Given the description of an element on the screen output the (x, y) to click on. 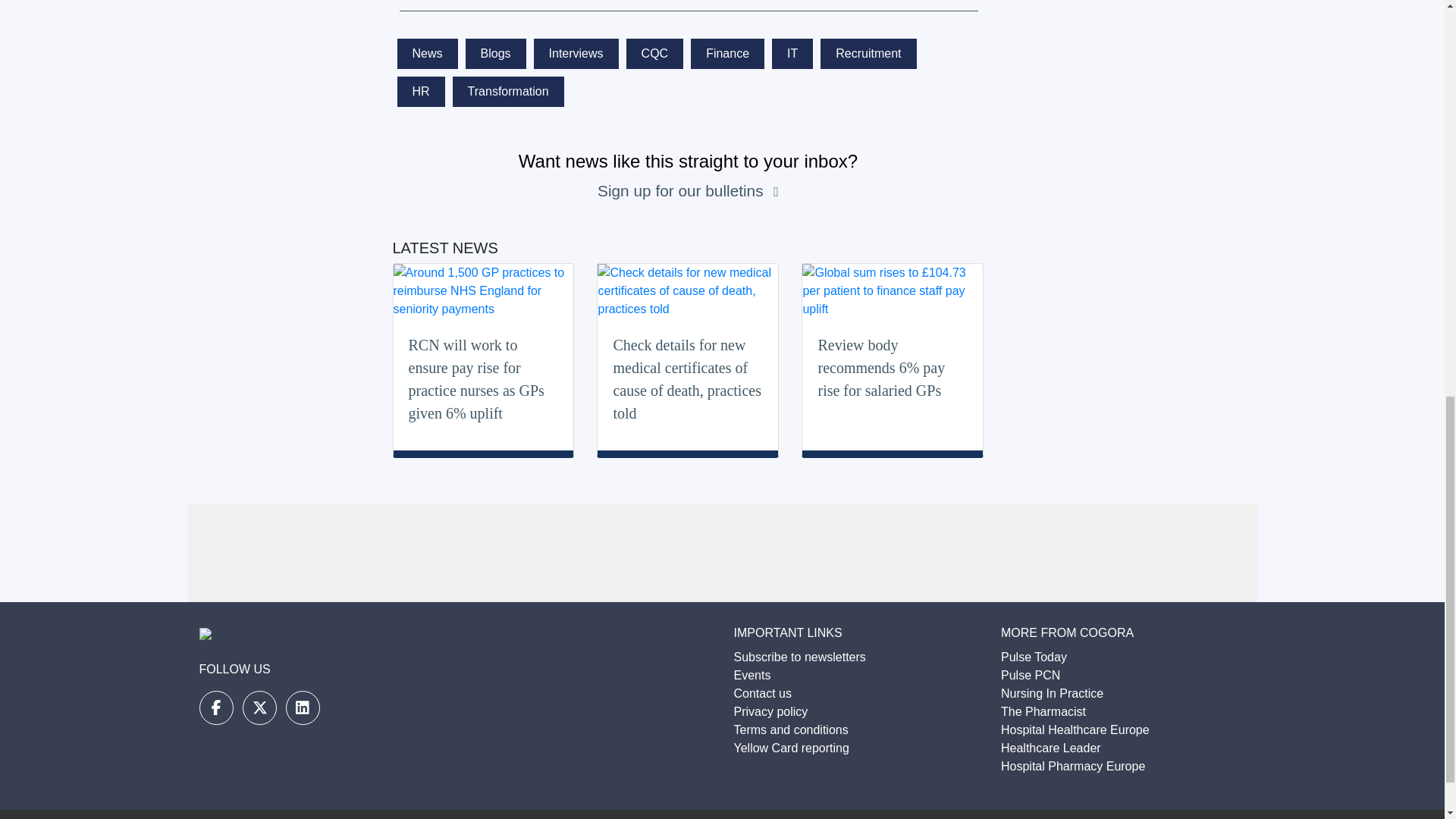
Privacy policy (770, 711)
Pulse Today (1034, 656)
Contact us (762, 693)
Healthcare Leader (1050, 748)
Pulse PCN (1030, 675)
Hospital Healthcare Europe (1075, 729)
Terms and conditions (790, 729)
Sign up for our bulletins (681, 190)
Subscribe to newsletters (799, 656)
The Pharmacist (1043, 711)
Events (752, 675)
Hospital Pharmacy Europe (1072, 766)
Nursing In Practice (1052, 693)
Yellow Card reporting (790, 748)
